Given the description of an element on the screen output the (x, y) to click on. 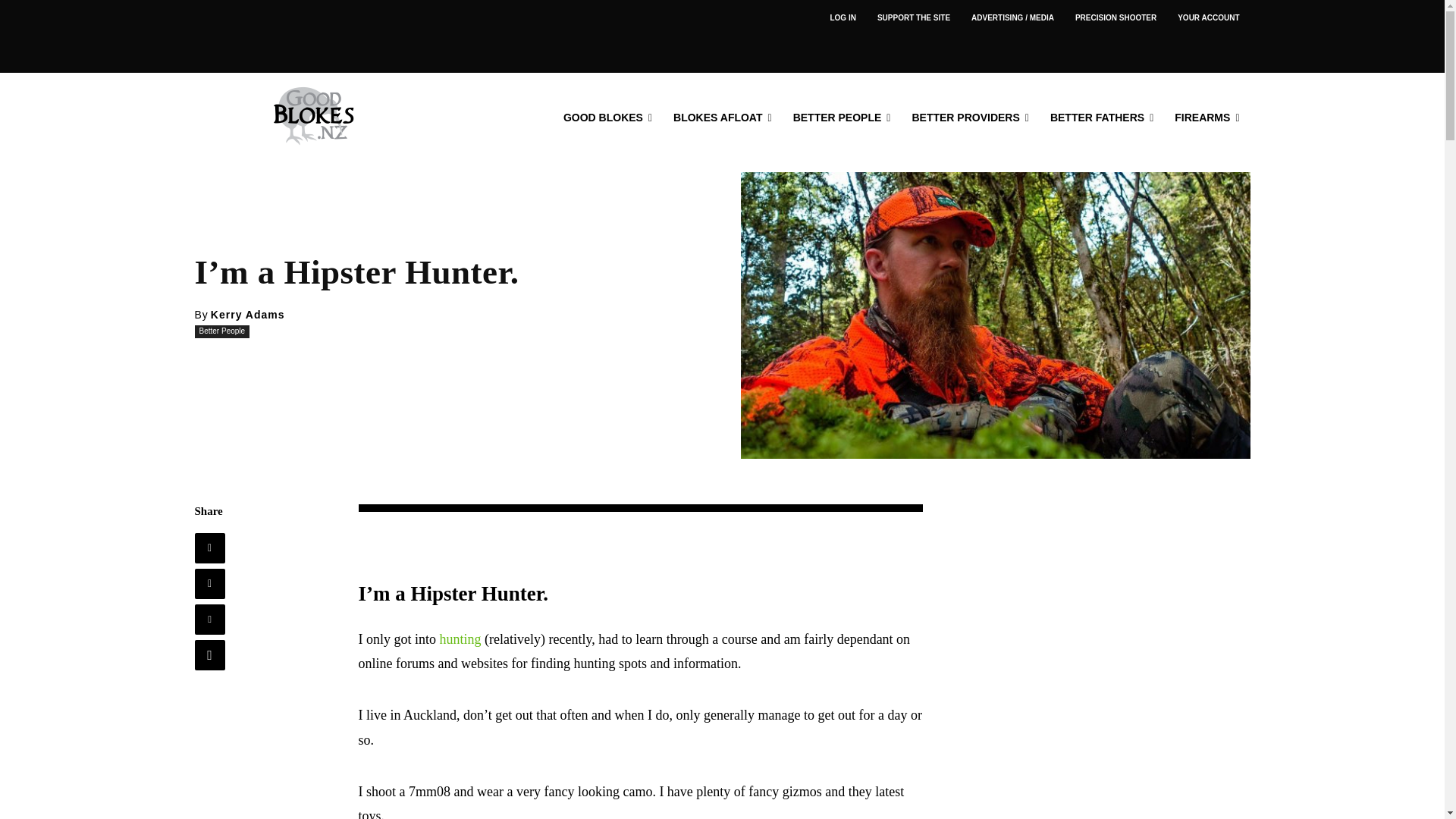
LOG IN (842, 18)
Modern Marksmanship Mechanics (1115, 18)
PRECISION SHOOTER (1115, 18)
SUPPORT THE SITE (913, 18)
YOUR ACCOUNT (1208, 18)
GOOD BLOKES (607, 117)
